Given the description of an element on the screen output the (x, y) to click on. 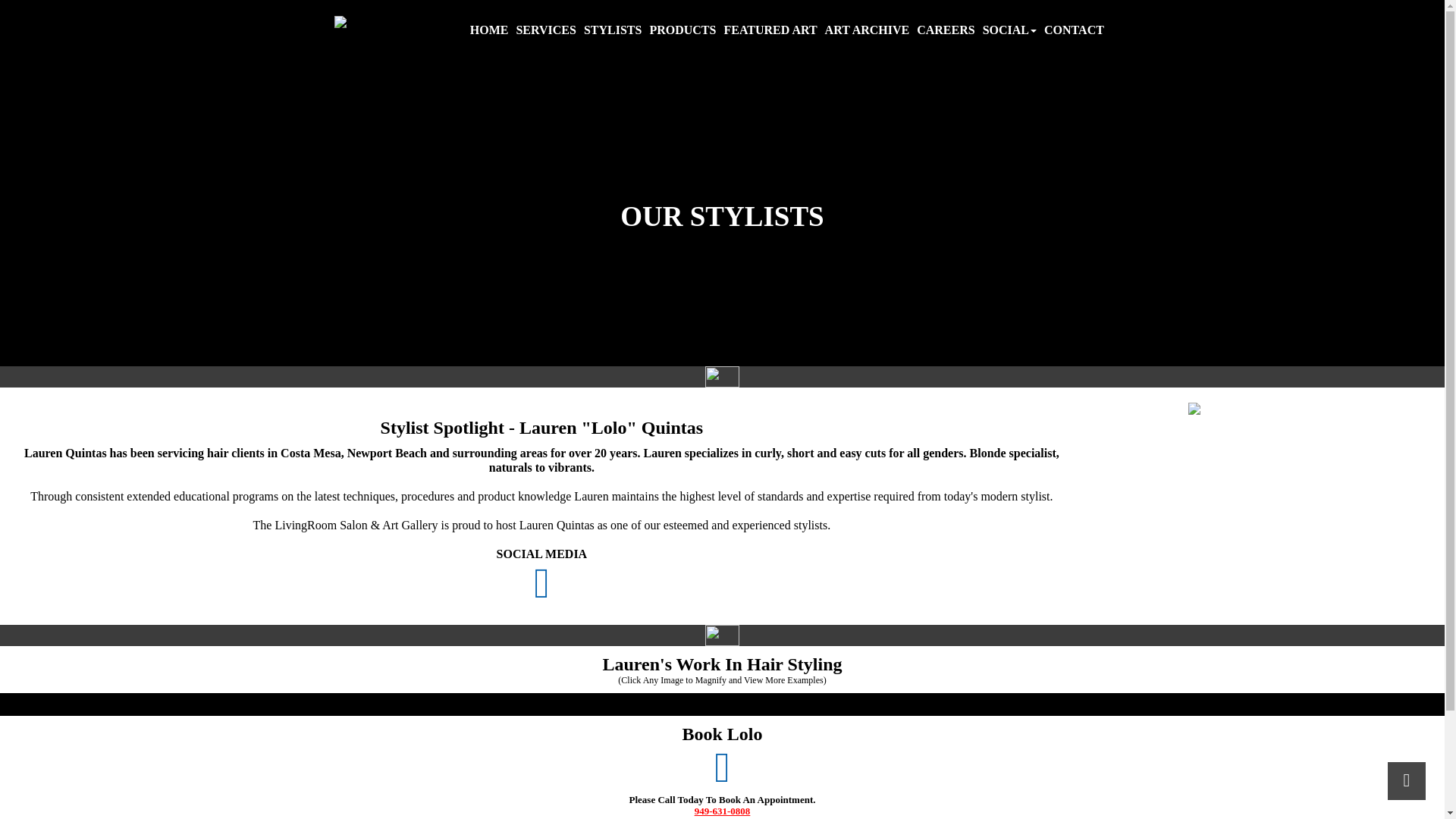
PRODUCTS (682, 31)
949-631-0808 (722, 810)
FEATURED ART (770, 31)
CONTACT (1074, 31)
STYLISTS (612, 31)
CAREERS (945, 31)
SOCIAL (1009, 31)
SERVICES (545, 31)
ART ARCHIVE (867, 31)
